Given the description of an element on the screen output the (x, y) to click on. 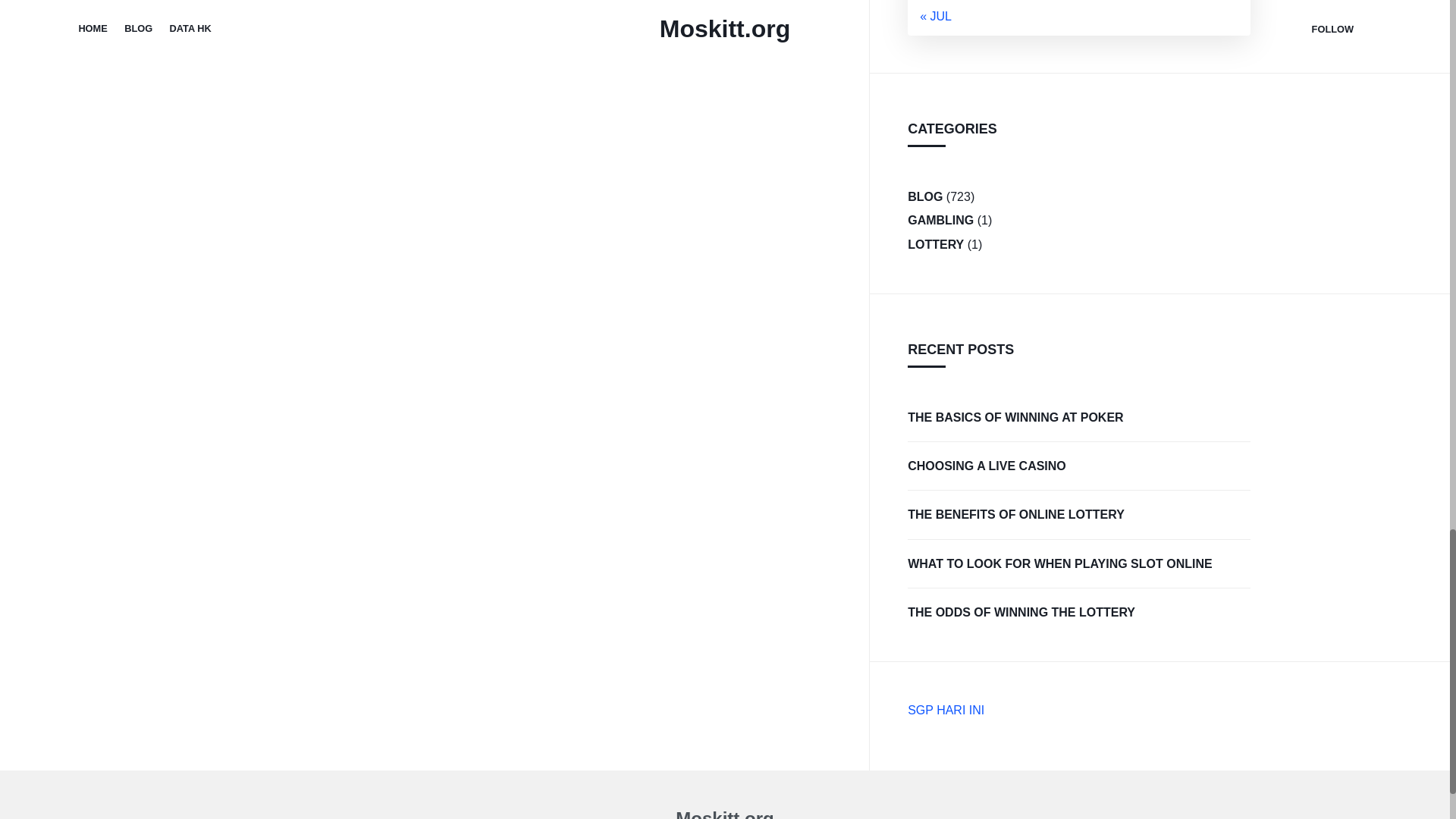
Moskitt.org (724, 813)
